Given the description of an element on the screen output the (x, y) to click on. 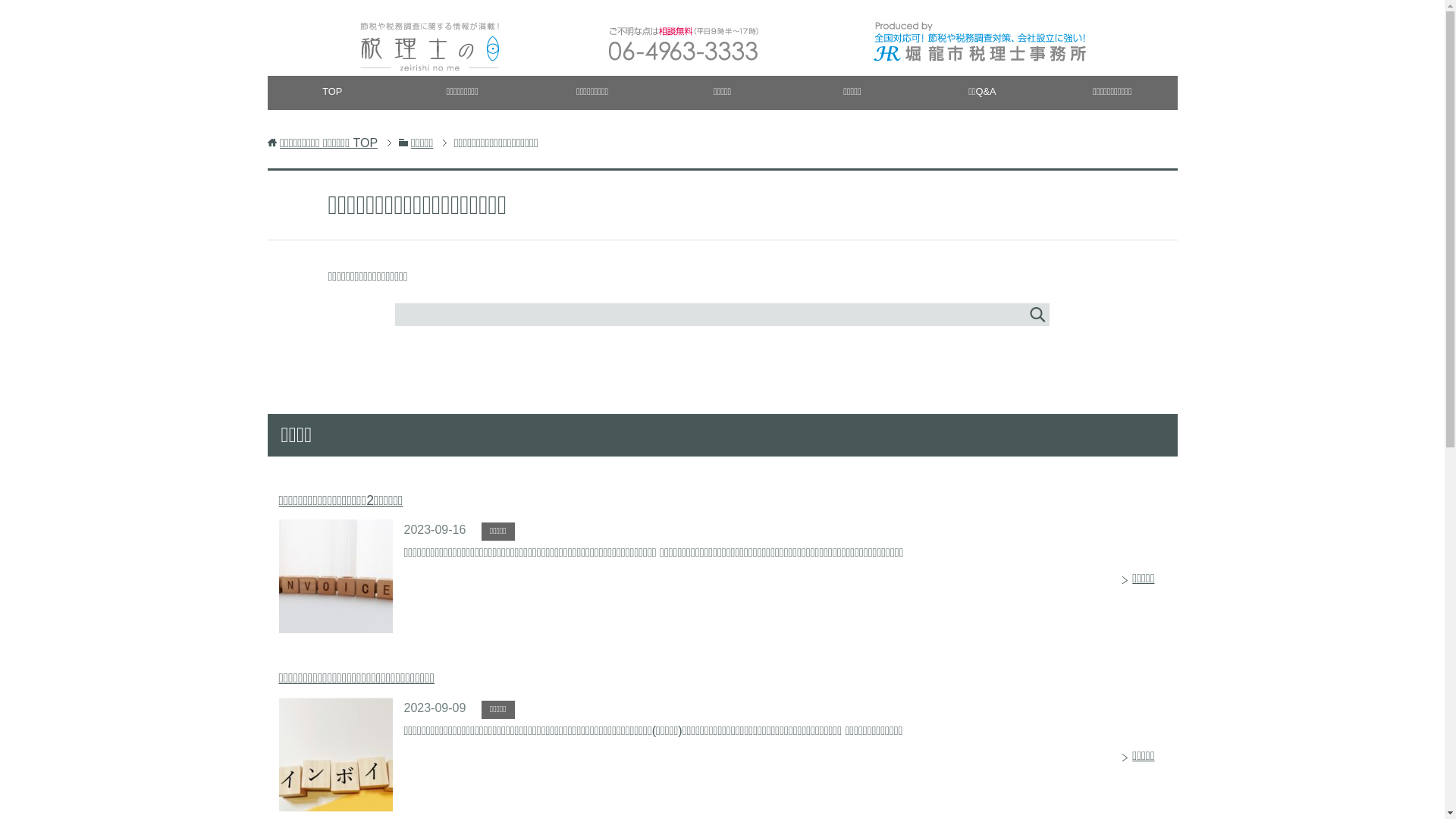
TOP Element type: text (331, 92)
